Given the description of an element on the screen output the (x, y) to click on. 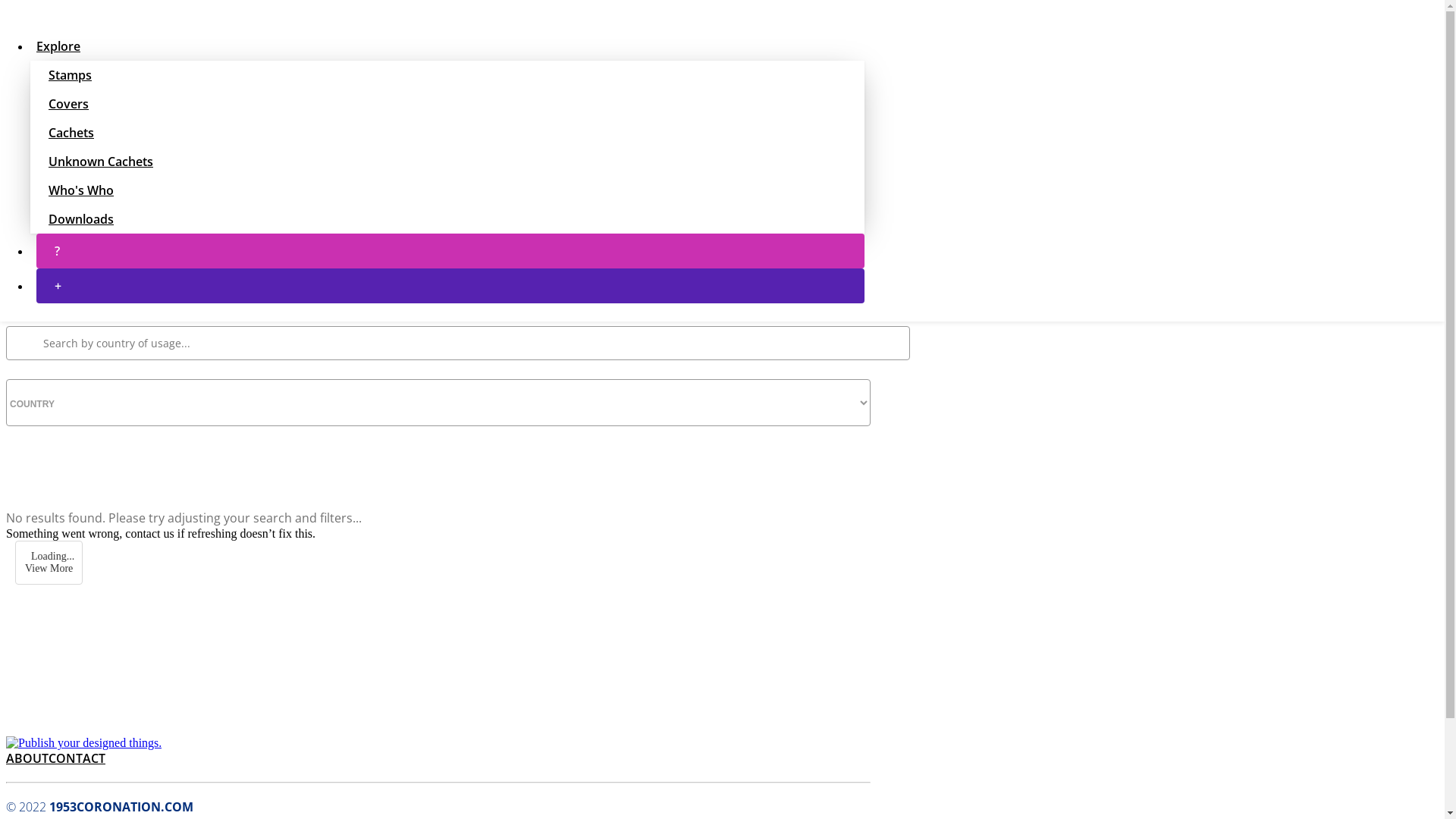
Explore Element type: text (447, 45)
Who's Who Element type: text (447, 189)
? Element type: text (450, 250)
Stamps Element type: text (447, 74)
Covers Element type: text (447, 103)
Cachets Element type: text (447, 132)
Loading...
View More Element type: text (48, 562)
ABOUT Element type: text (27, 757)
Unknown Cachets Element type: text (447, 161)
Downloads Element type: text (447, 218)
CONTACT Element type: text (76, 757)
+ Element type: text (450, 285)
